Given the description of an element on the screen output the (x, y) to click on. 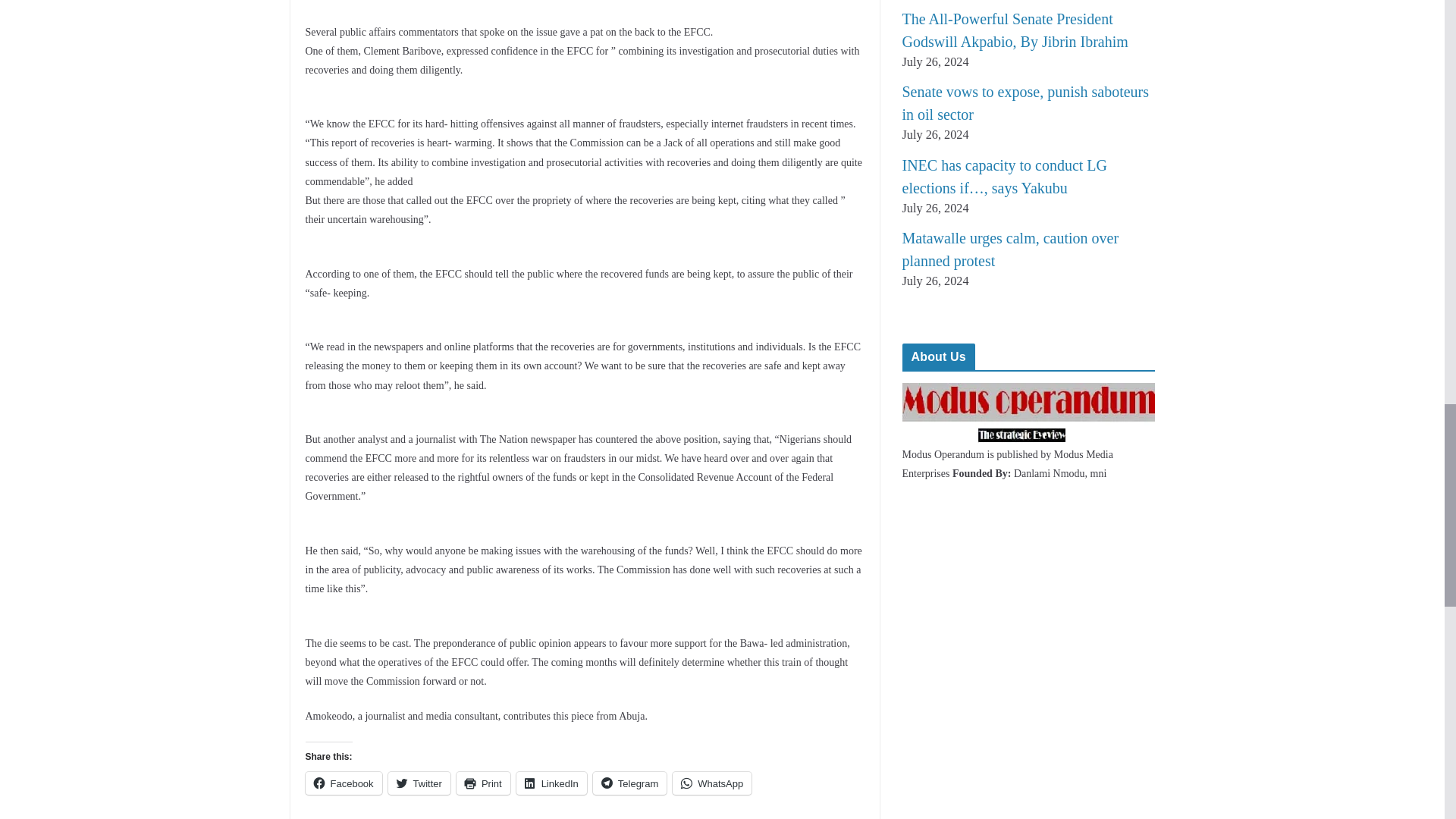
Telegram (629, 783)
Twitter (418, 783)
Print (484, 783)
LinkedIn (551, 783)
WhatsApp (711, 783)
Click to share on Facebook (342, 783)
Click to share on Twitter (418, 783)
Facebook (342, 783)
